Given the description of an element on the screen output the (x, y) to click on. 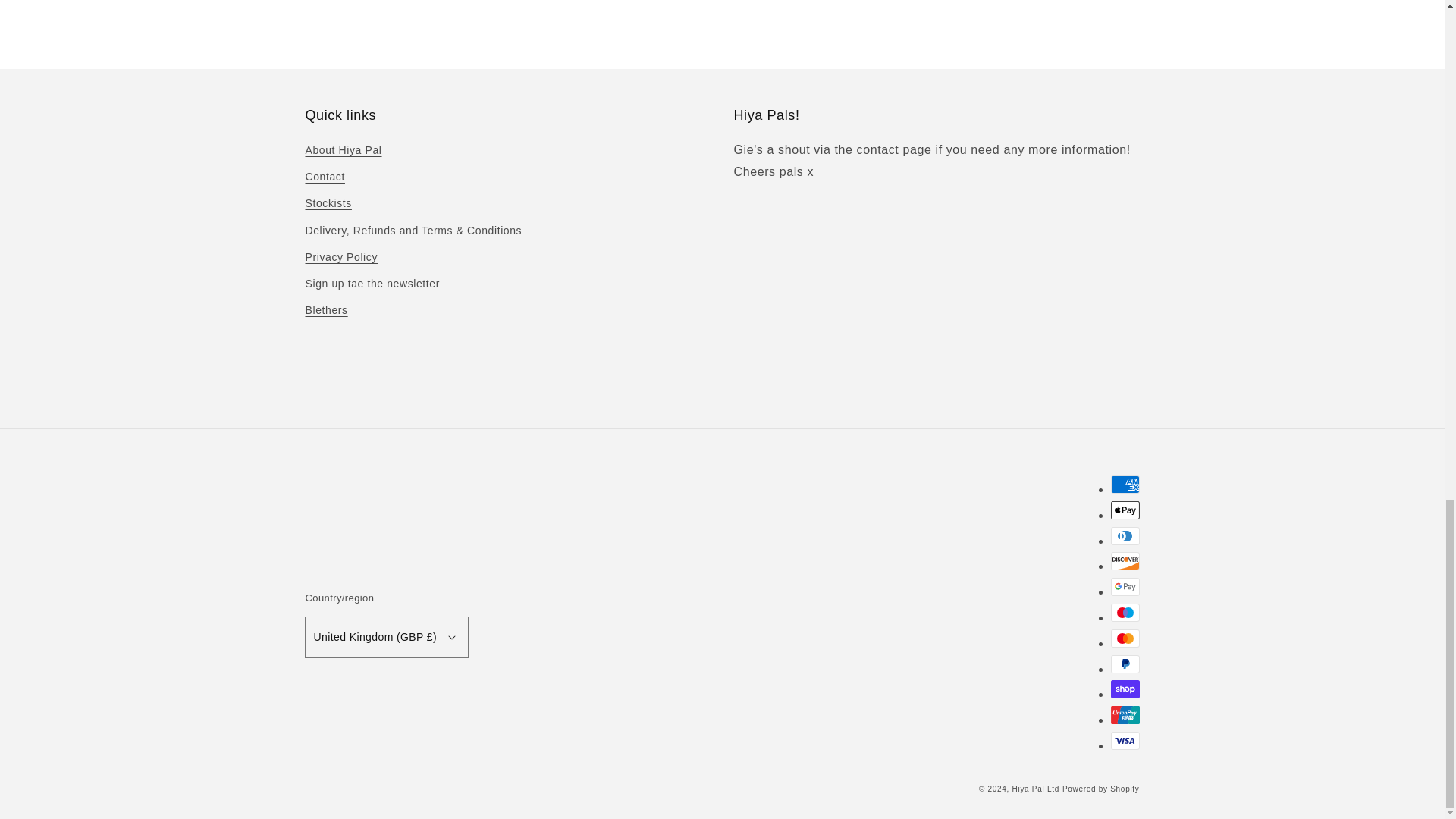
Apple Pay (1123, 510)
American Express (1123, 484)
Discover (1123, 561)
Mastercard (1123, 638)
Google Pay (1123, 587)
PayPal (1123, 664)
Visa (1123, 741)
Diners Club (1123, 536)
Shop Pay (1123, 689)
Union Pay (1123, 714)
Maestro (1123, 612)
